Given the description of an element on the screen output the (x, y) to click on. 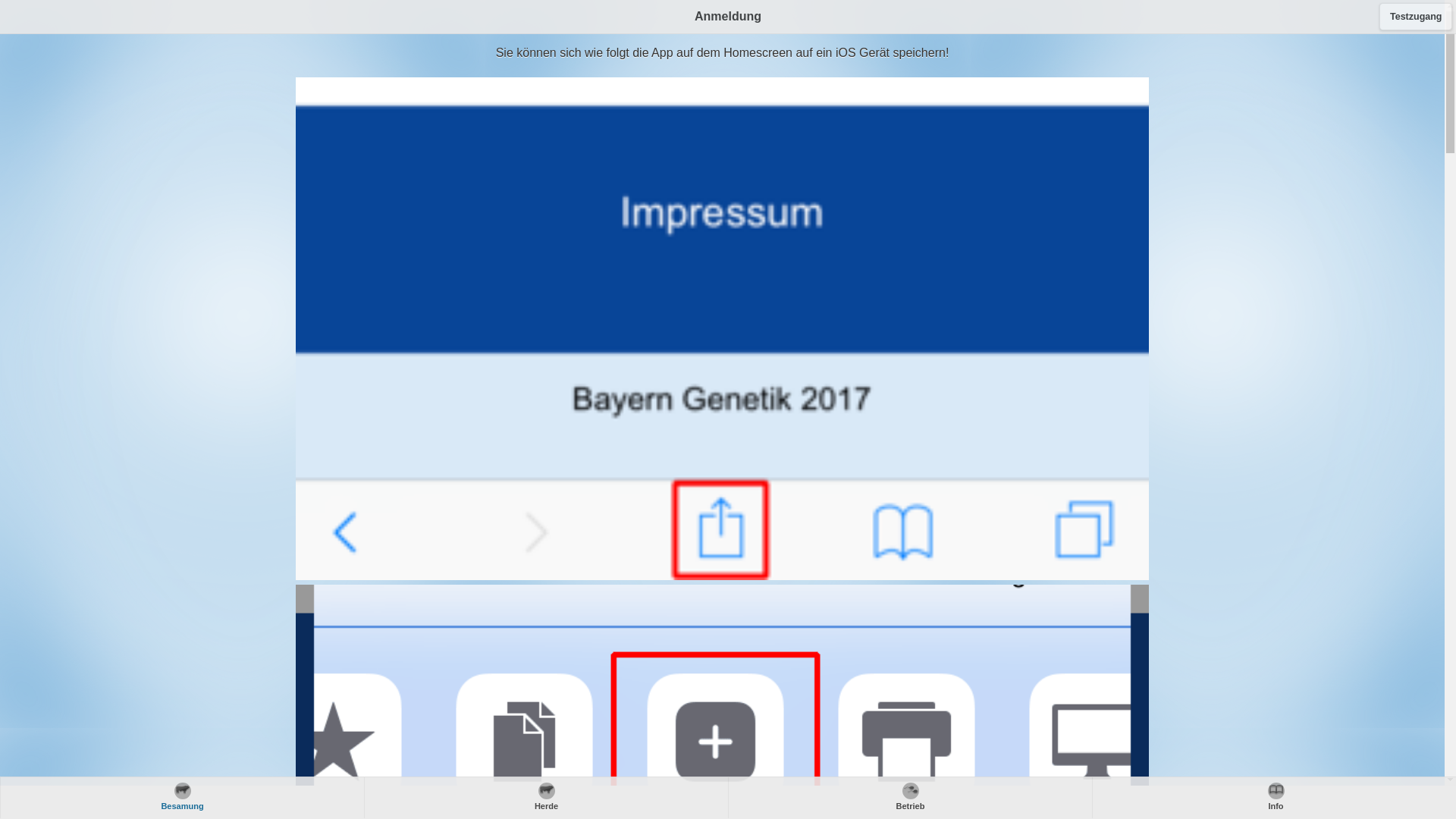
Herde Element type: text (546, 797)
Testzugang Element type: text (1415, 16)
Besamung Element type: text (182, 797)
Betrieb Element type: text (910, 797)
